Given the description of an element on the screen output the (x, y) to click on. 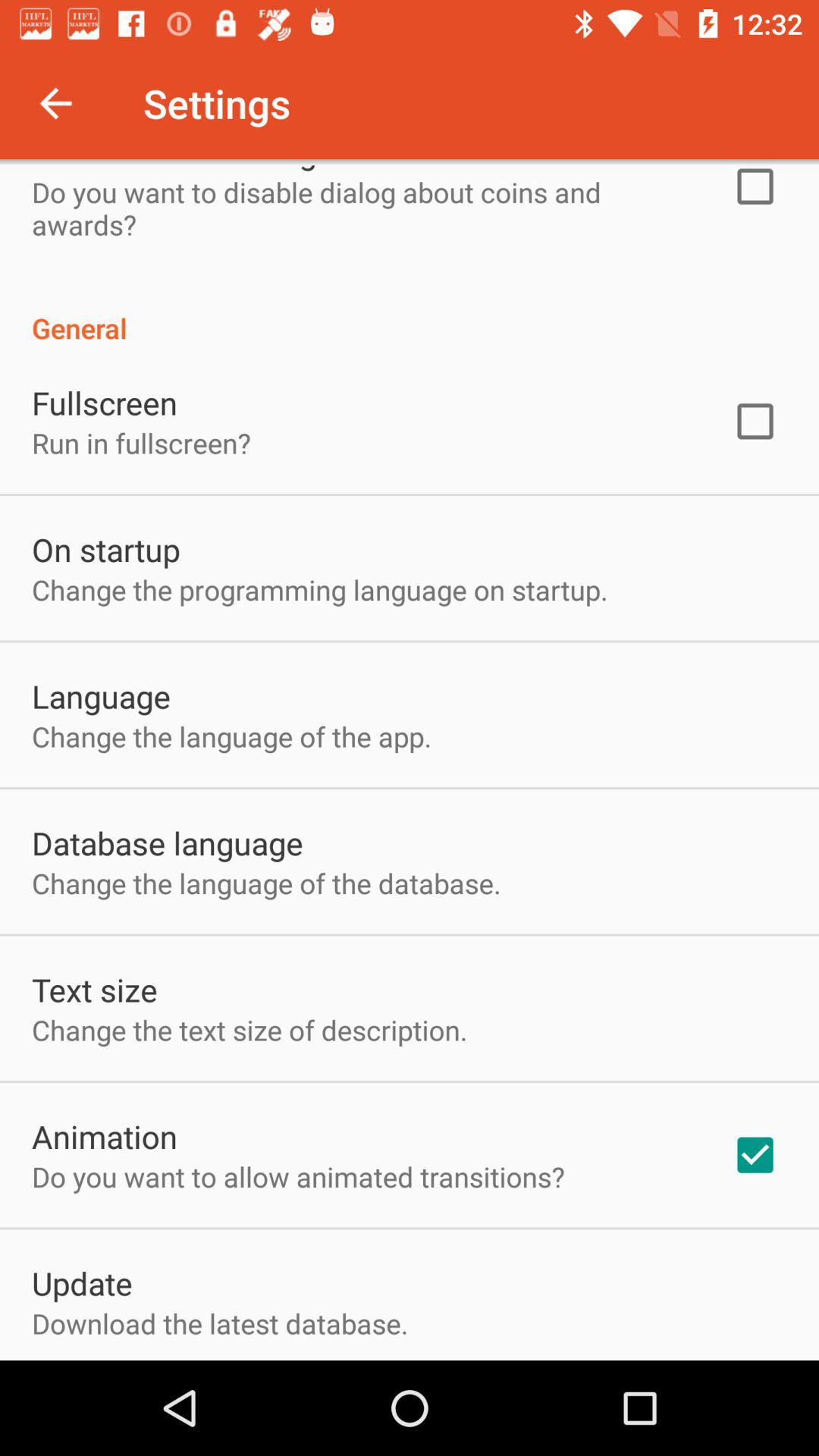
select item above do you want icon (104, 1135)
